Given the description of an element on the screen output the (x, y) to click on. 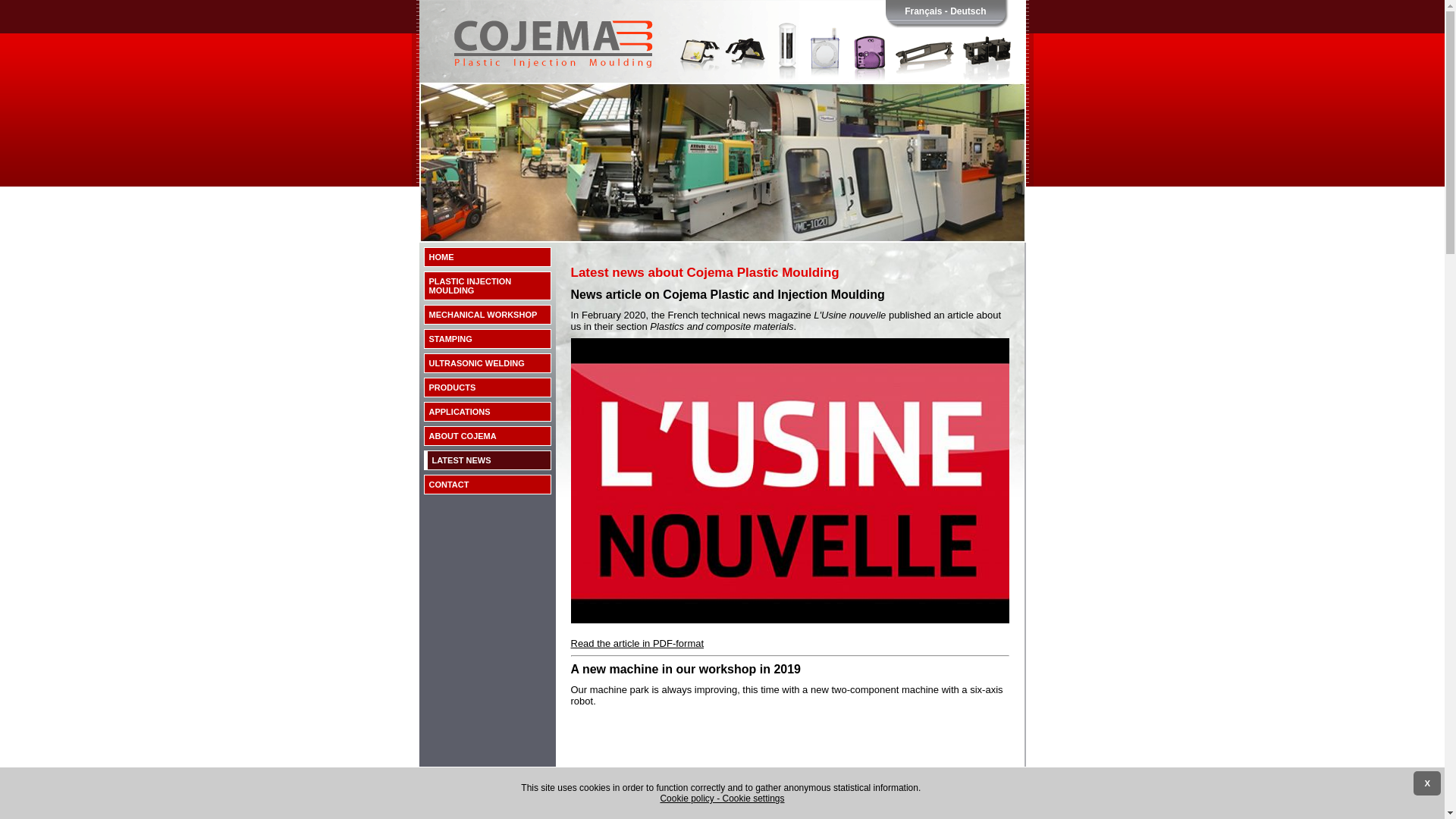
LATEST NEWS Element type: text (486, 460)
Cookie policy - Cookie settings Element type: text (722, 798)
MECHANICAL WORKSHOP Element type: text (486, 314)
STAMPING Element type: text (486, 338)
APPLICATIONS Element type: text (486, 411)
CONTACT Element type: text (486, 484)
HOME Element type: text (486, 256)
cojema Element type: hover (721, 75)
PLASTIC INJECTION MOULDING Element type: text (486, 285)
PRODUCTS Element type: text (486, 387)
X Element type: text (1426, 783)
ULTRASONIC WELDING Element type: text (486, 363)
ABOUT COJEMA Element type: text (486, 435)
Read the article in PDF-format Element type: text (636, 643)
Deutsch Element type: text (967, 11)
